Given the description of an element on the screen output the (x, y) to click on. 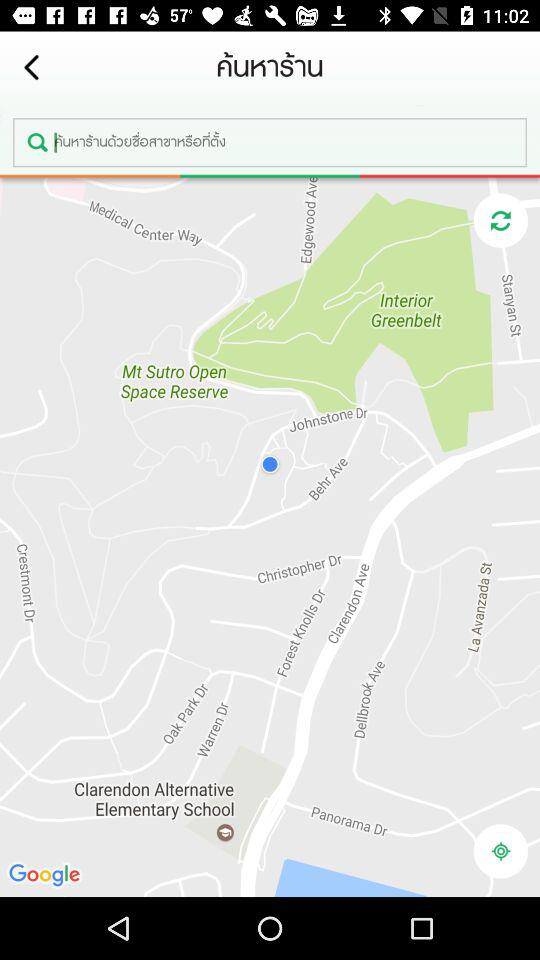
enter search location (269, 142)
